Given the description of an element on the screen output the (x, y) to click on. 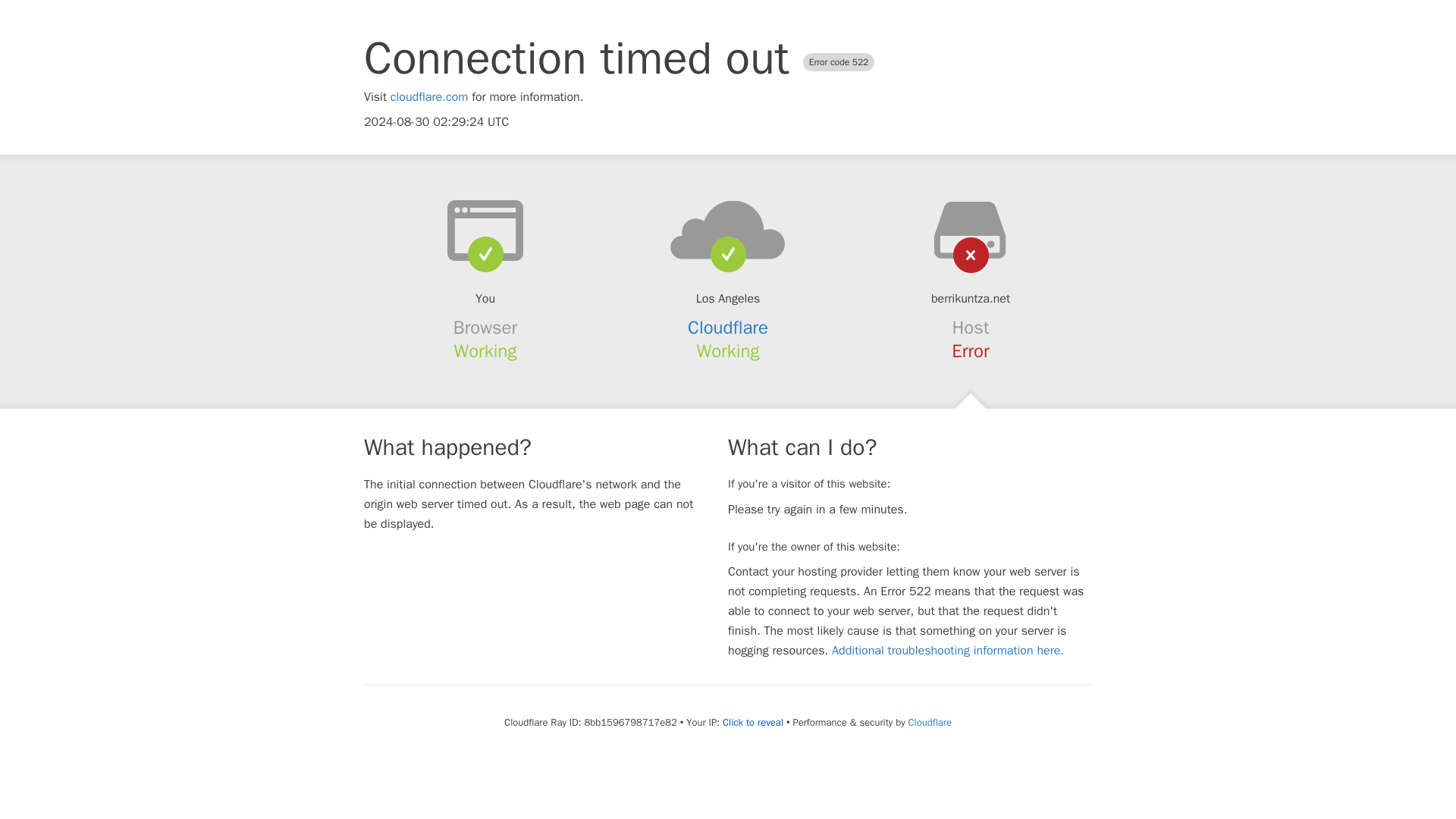
cloudflare.com (429, 96)
Additional troubleshooting information here. (947, 650)
Cloudflare (727, 327)
Cloudflare (930, 721)
Click to reveal (752, 722)
